Given the description of an element on the screen output the (x, y) to click on. 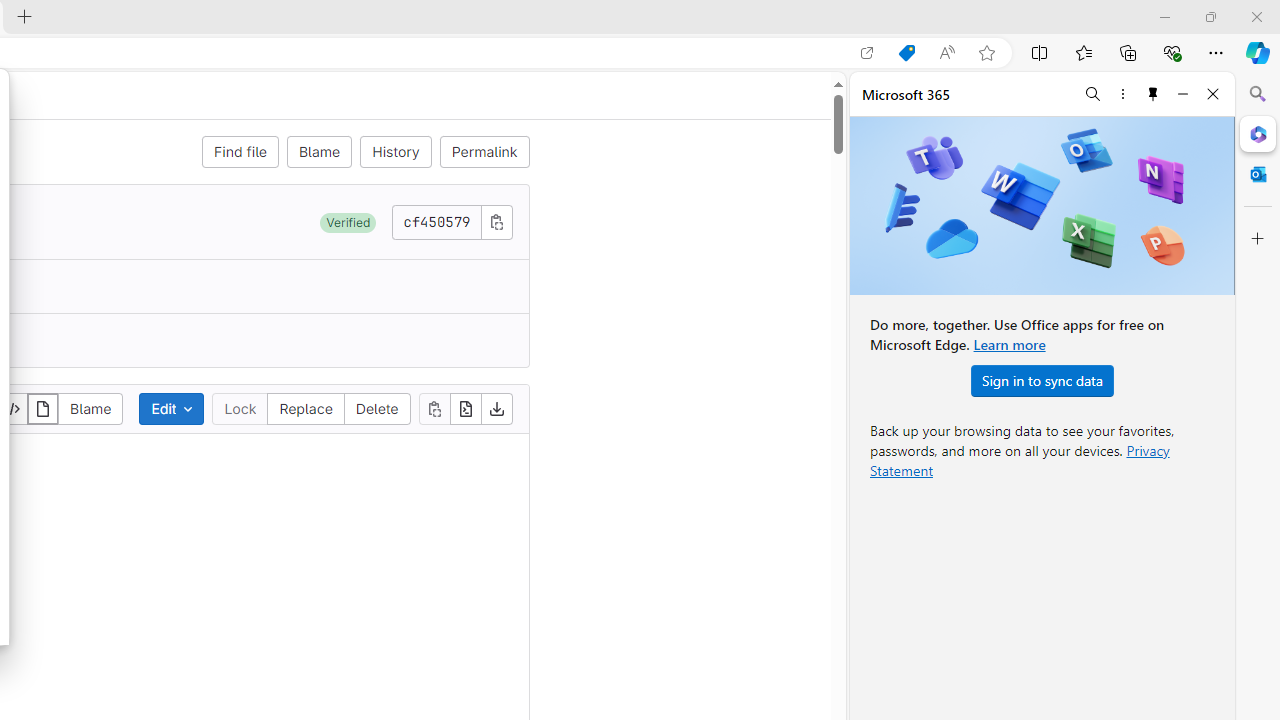
Toggle Secondary Side Bar (Ctrl+Alt+B) (1102, 16)
Customize Layout... (1128, 16)
Run Python File (1192, 52)
Toggle Primary Side Bar (Ctrl+B) (1050, 16)
Match Case (Alt+C) (899, 107)
Previous Match (Shift+Enter) (1041, 106)
Editor actions (1226, 52)
Toggle Replace (725, 107)
Split Editor Right (Ctrl+\) [Alt] Split Editor Down (1230, 52)
Find (812, 106)
Toggle Panel (Ctrl+J) (1077, 16)
Run or Debug... (1208, 52)
